Given the description of an element on the screen output the (x, y) to click on. 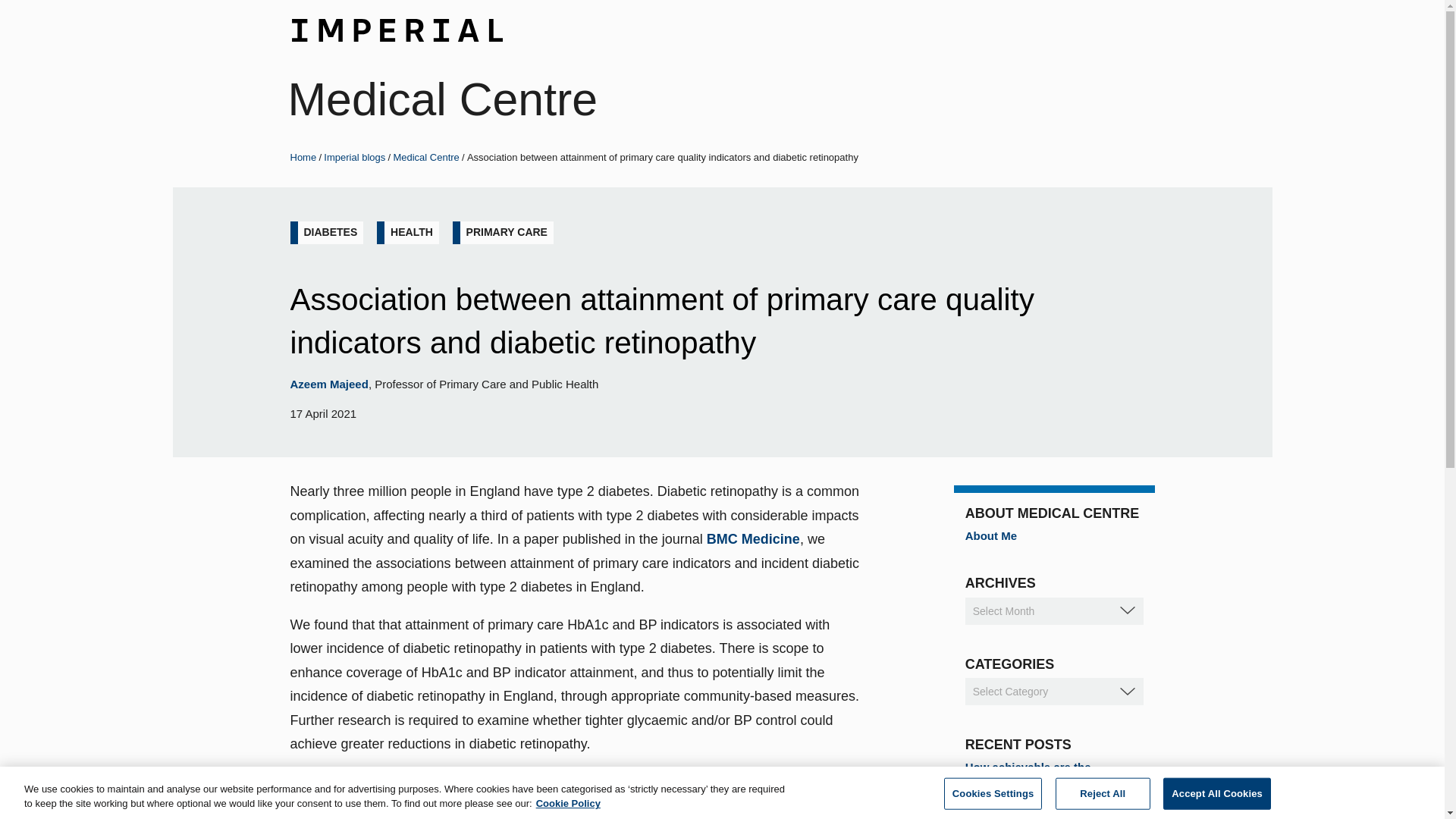
View all posts in Diabetes (329, 232)
Azeem Majeed (343, 779)
Cookie Policy (567, 803)
HEALTH (411, 232)
DIABETES (329, 232)
Home (302, 156)
About Me (990, 535)
Skip to blog sidebar (64, 1)
Medical Centre (425, 156)
Azeem Majeed (328, 383)
BMC Medicine (752, 539)
Medical Centre (443, 99)
View all posts in Health (411, 232)
Imperial College London (395, 26)
